Given the description of an element on the screen output the (x, y) to click on. 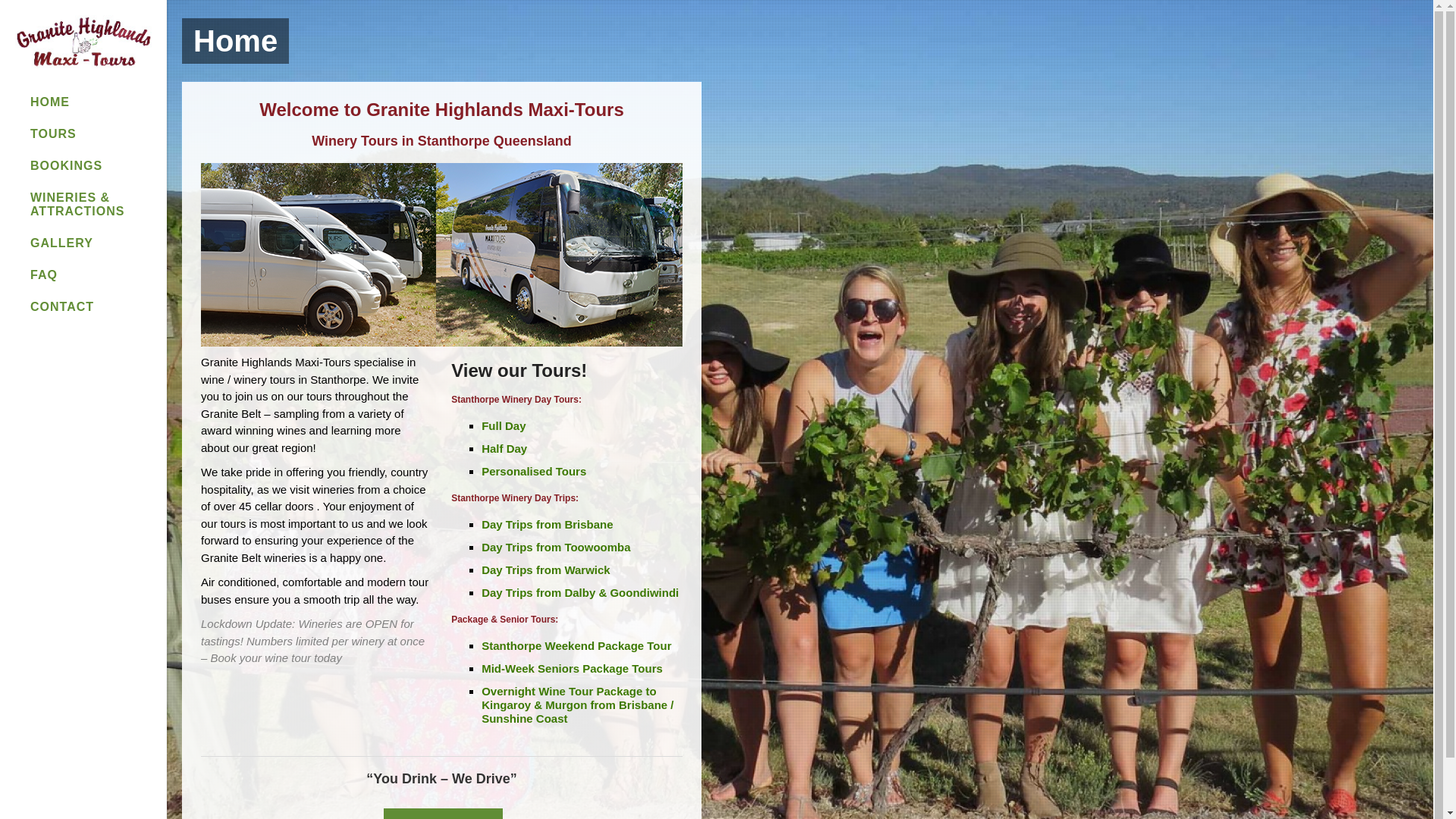
HOME Element type: text (90, 102)
Mid-Week Seniors Package Tours Element type: text (571, 668)
Personalised Tours Element type: text (533, 470)
FAQ Element type: text (90, 275)
CONTACT Element type: text (90, 307)
Stanthorpe Weekend Package Tour Element type: text (576, 645)
Full Day Element type: text (503, 425)
Day Trips from Warwick Element type: text (545, 569)
BOOKINGS Element type: text (90, 166)
View our Tours! Element type: text (518, 370)
WINERIES & ATTRACTIONS Element type: text (90, 204)
GALLERY Element type: text (90, 243)
TOURS Element type: text (90, 134)
Day Trips from Dalby & Goondiwindi Element type: text (579, 592)
Half Day Element type: text (504, 448)
Day Trips from Brisbane Element type: text (546, 523)
Day Trips from Toowoomba Element type: text (555, 546)
